Given the description of an element on the screen output the (x, y) to click on. 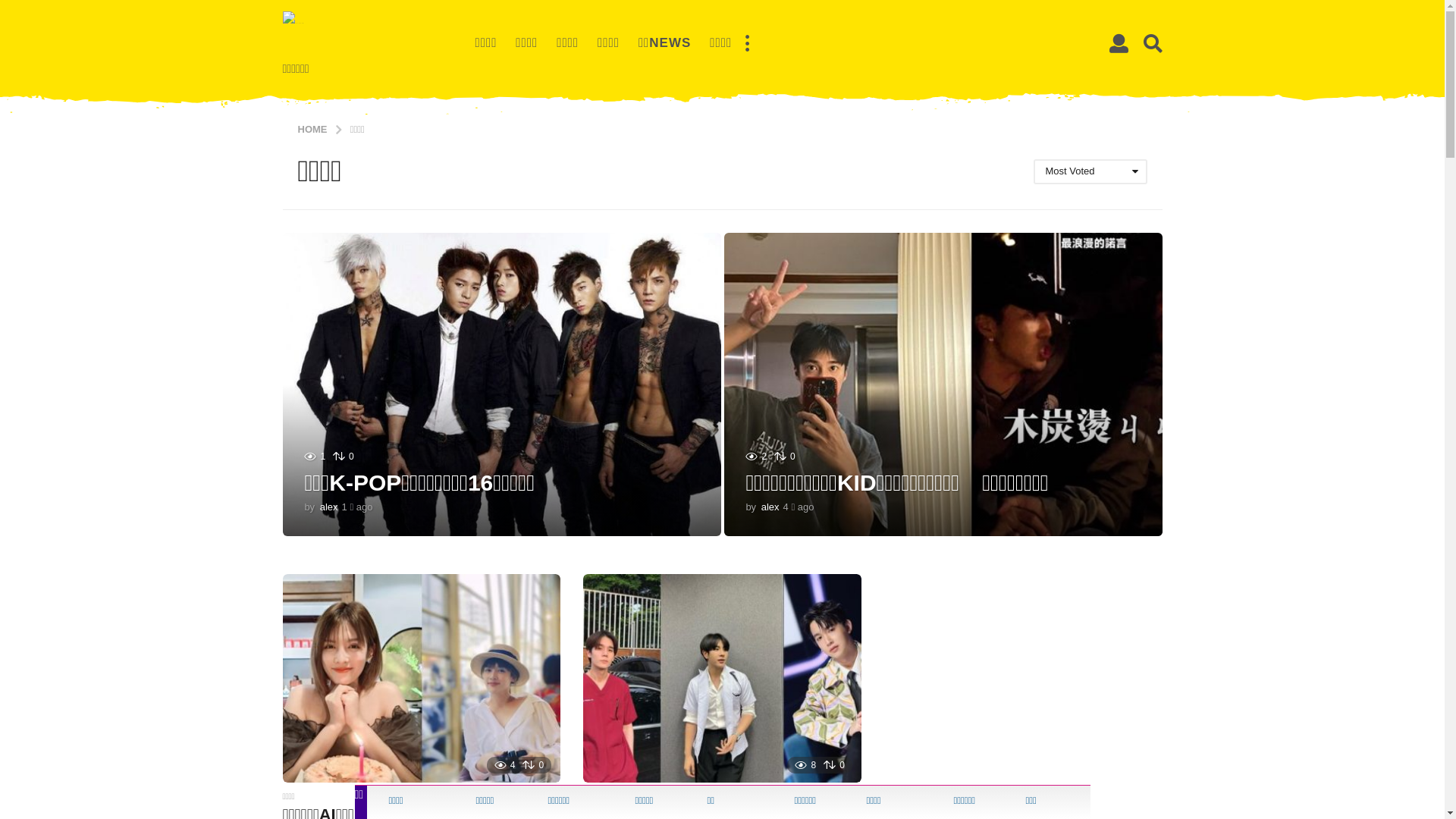
HOME Element type: text (313, 128)
alex Element type: text (329, 506)
alex Element type: text (770, 506)
